Given the description of an element on the screen output the (x, y) to click on. 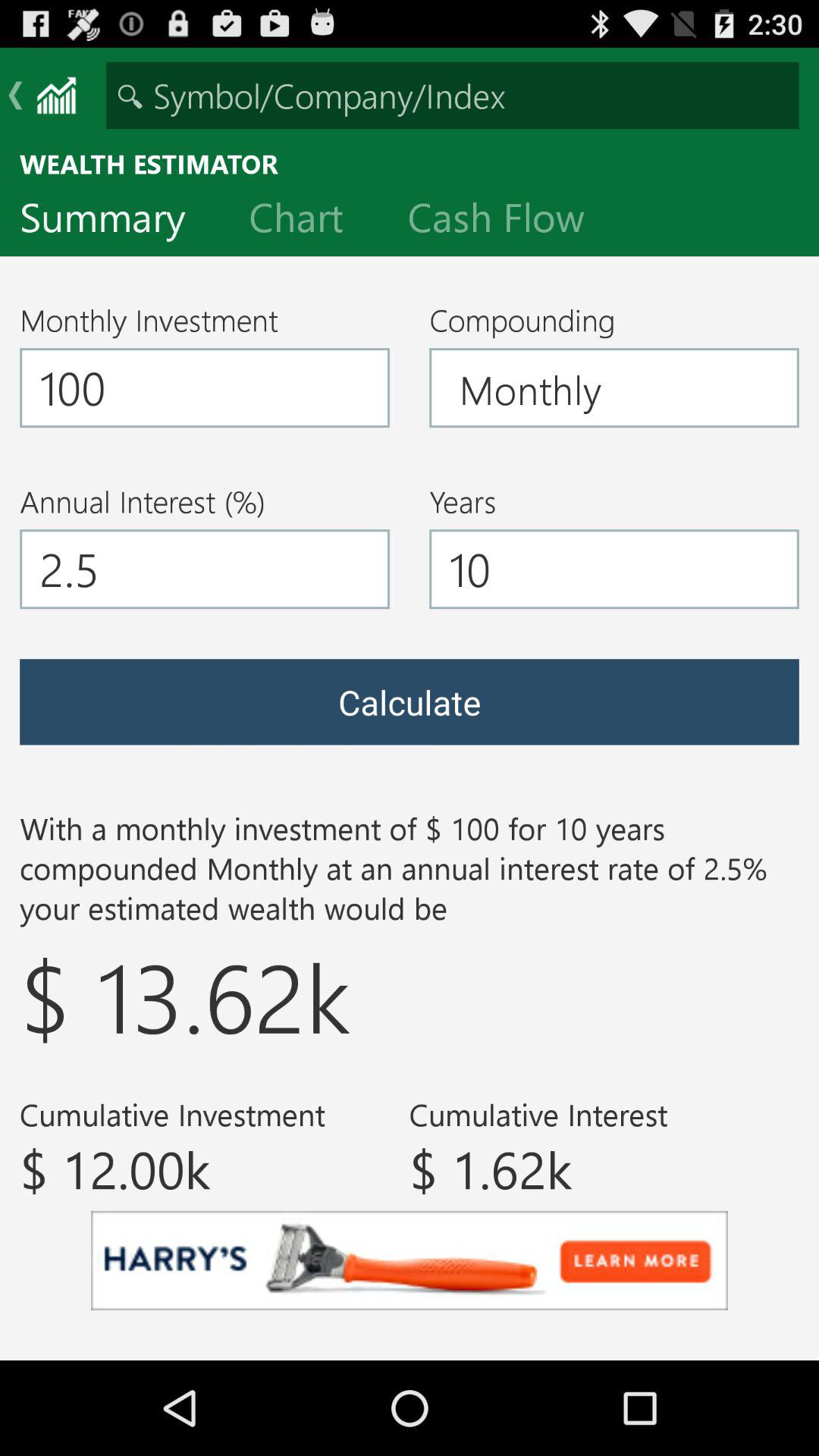
select the icon next to the chart item (507, 220)
